Given the description of an element on the screen output the (x, y) to click on. 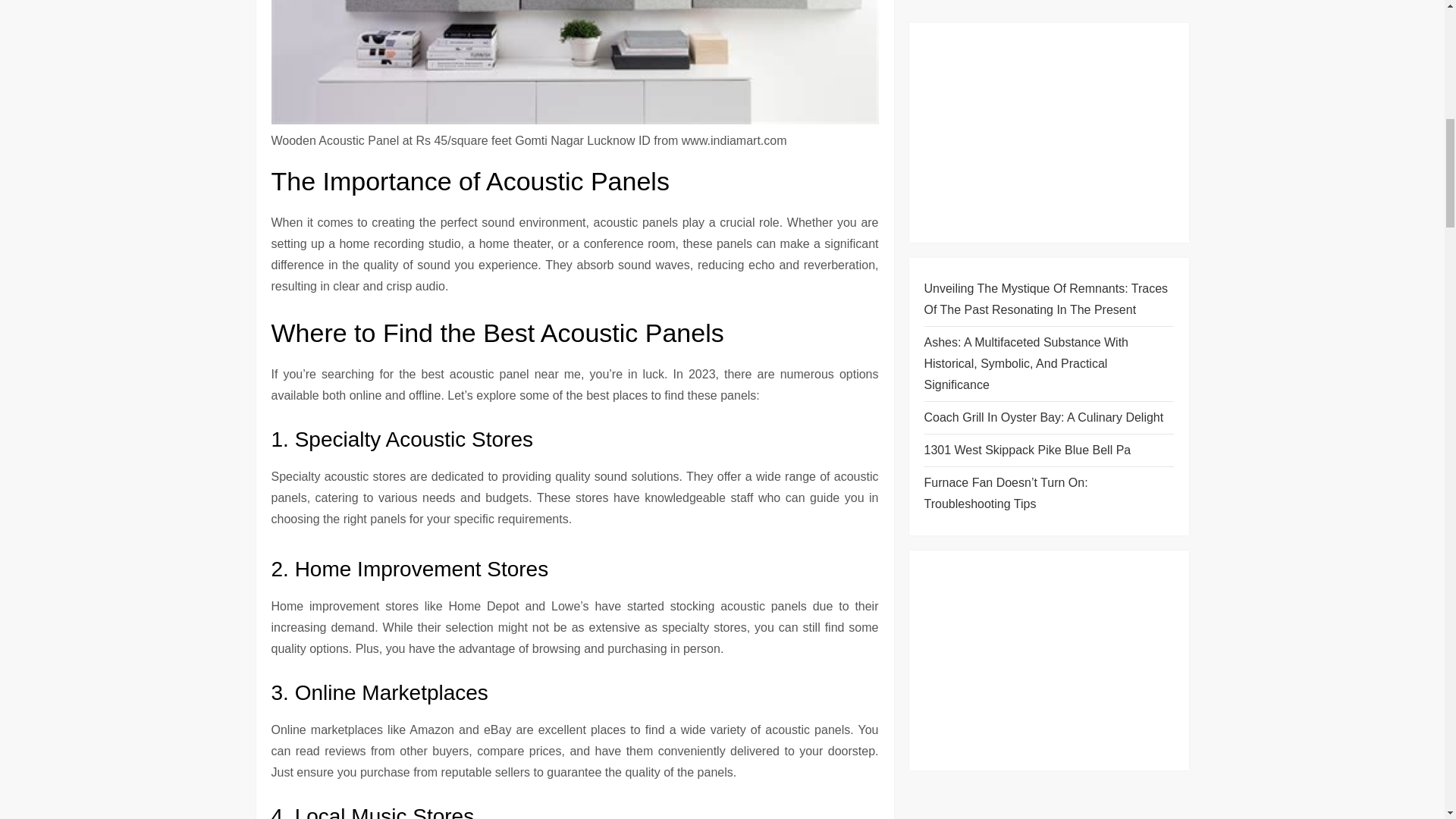
Advertisement (1048, 52)
